Given the description of an element on the screen output the (x, y) to click on. 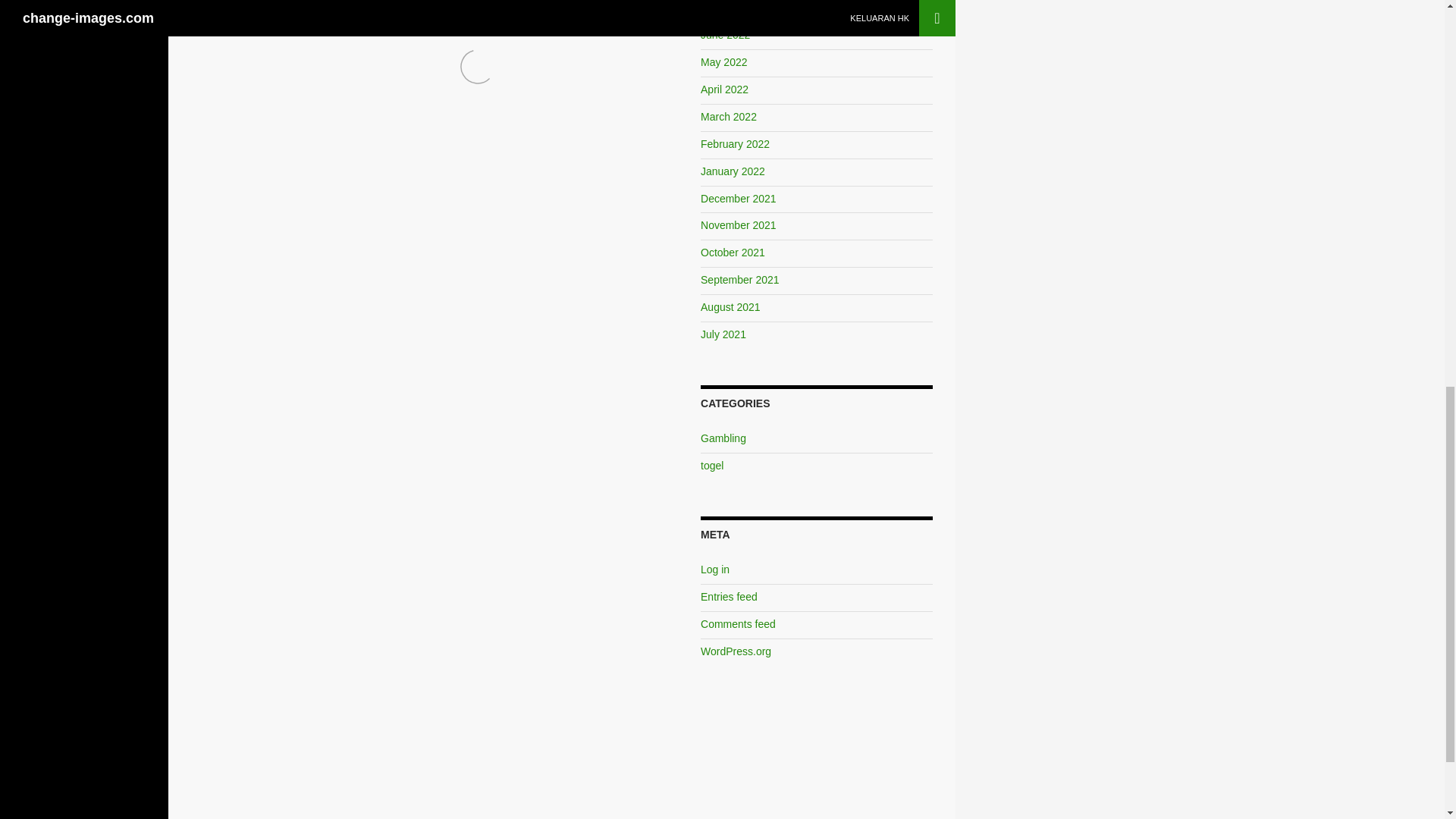
May 2022 (434, 761)
June 2022 (434, 804)
July 2022 (723, 61)
